Given the description of an element on the screen output the (x, y) to click on. 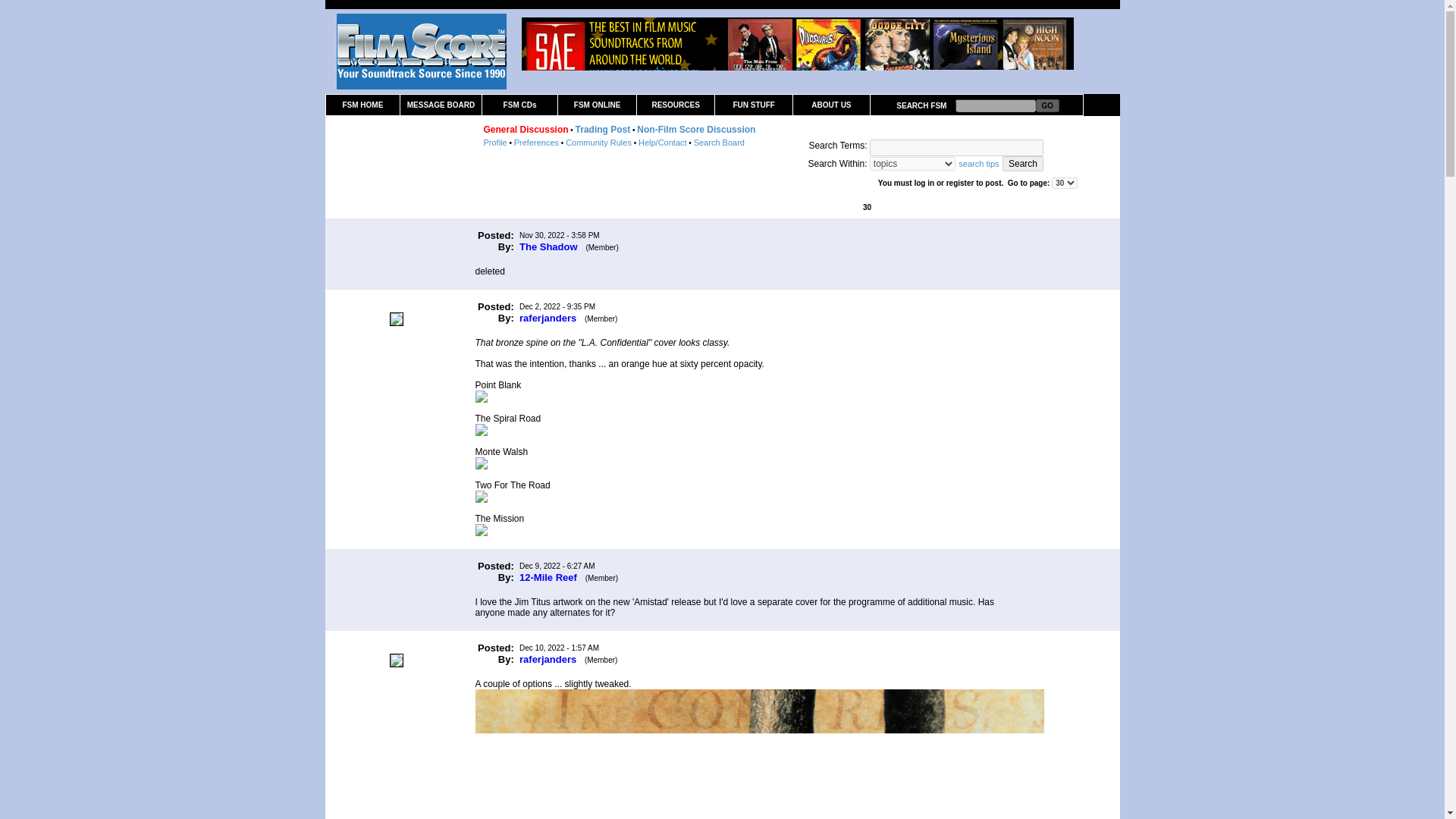
31 (877, 207)
Search (1023, 163)
28 (845, 207)
Forgot Login? (398, 155)
ABOUT US (830, 104)
General Discussion (526, 129)
FSM ONLINE (597, 104)
The Shadow (548, 246)
GO (1047, 105)
Community Rules (598, 142)
